Given the description of an element on the screen output the (x, y) to click on. 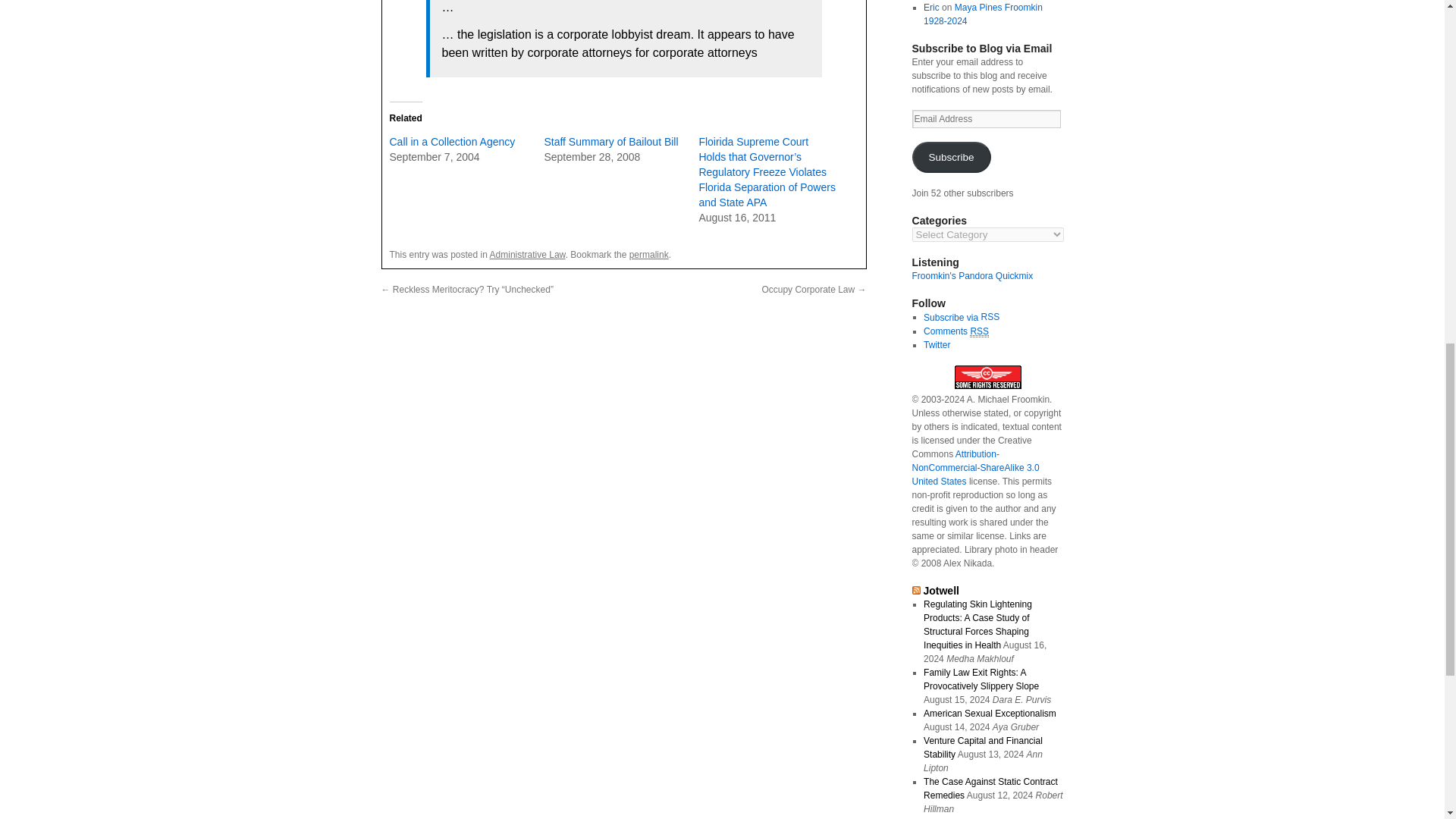
Eric (931, 7)
Staff Summary of Bailout Bill (610, 141)
The latest comments to all posts in RSS (955, 331)
permalink (648, 254)
Call in a Collection Agency (452, 141)
Subscribe (950, 156)
Really Simple Syndication (988, 317)
RSS (988, 317)
Maya Pines Froomkin 1928-2024 (982, 14)
Froomkin's Pandora Quickmix (971, 276)
